Given the description of an element on the screen output the (x, y) to click on. 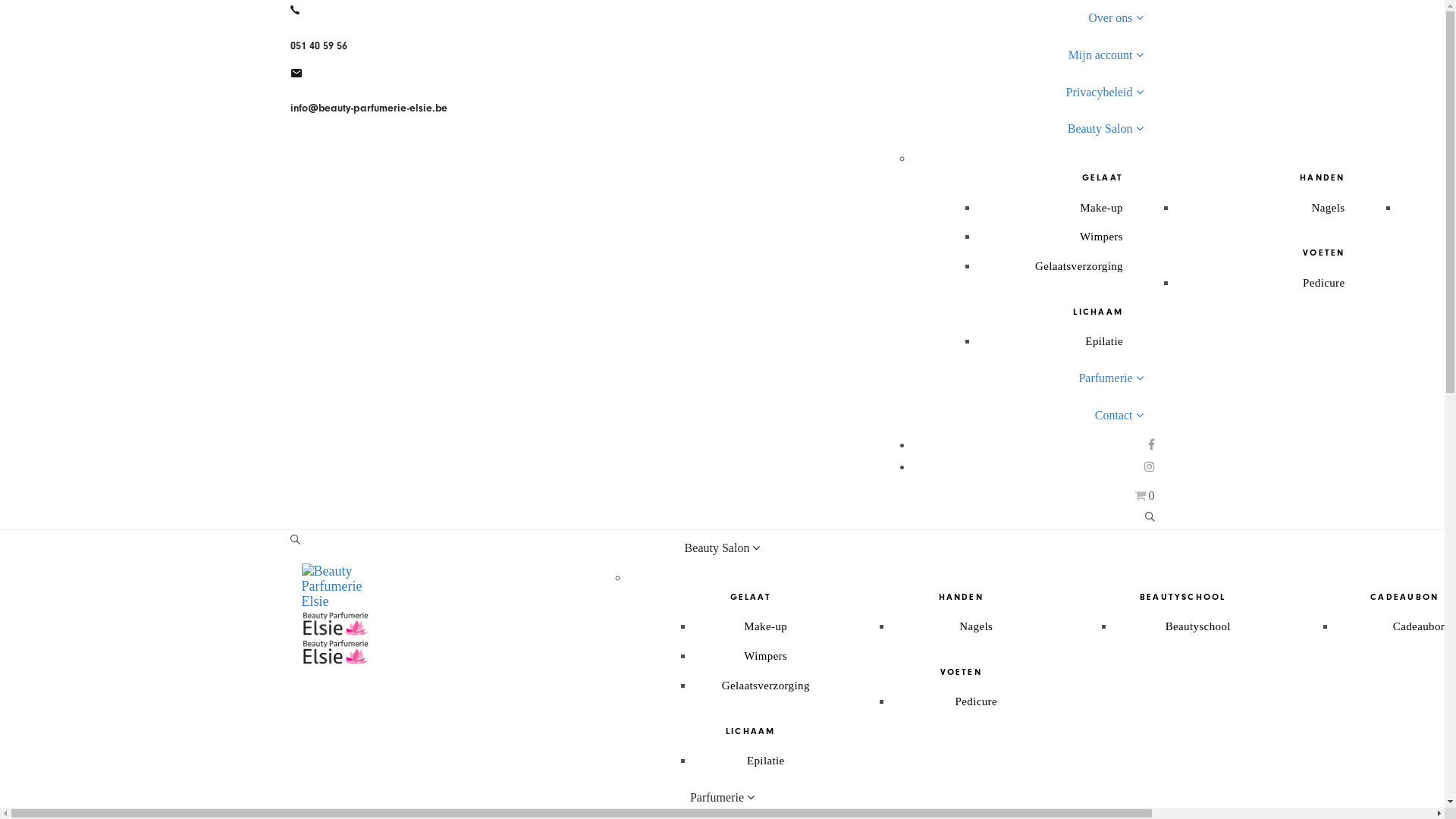
Epilatie Element type: text (765, 760)
Gelaatsverzorging Element type: text (1079, 266)
Nagels Element type: text (1328, 207)
Beauty Salon Element type: text (722, 548)
Privacybeleid Element type: text (1017, 92)
Beautyschool Element type: text (1197, 626)
Make-up Element type: text (1101, 207)
Wimpers Element type: text (1101, 236)
Nagels Element type: text (975, 626)
Gelaatsverzorging Element type: text (765, 685)
Wimpers Element type: text (765, 655)
Contact Element type: text (1017, 415)
Cadeaubon Element type: text (1419, 626)
Parfumerie Element type: text (1017, 378)
Make-up Element type: text (765, 626)
Mijn account Element type: text (1017, 55)
Beauty Salon Element type: text (1017, 128)
Pedicure Element type: text (1323, 282)
Over ons Element type: text (1017, 18)
Pedicure Element type: text (976, 701)
Parfumerie Element type: text (722, 797)
Epilatie Element type: text (1104, 341)
